Given the description of an element on the screen output the (x, y) to click on. 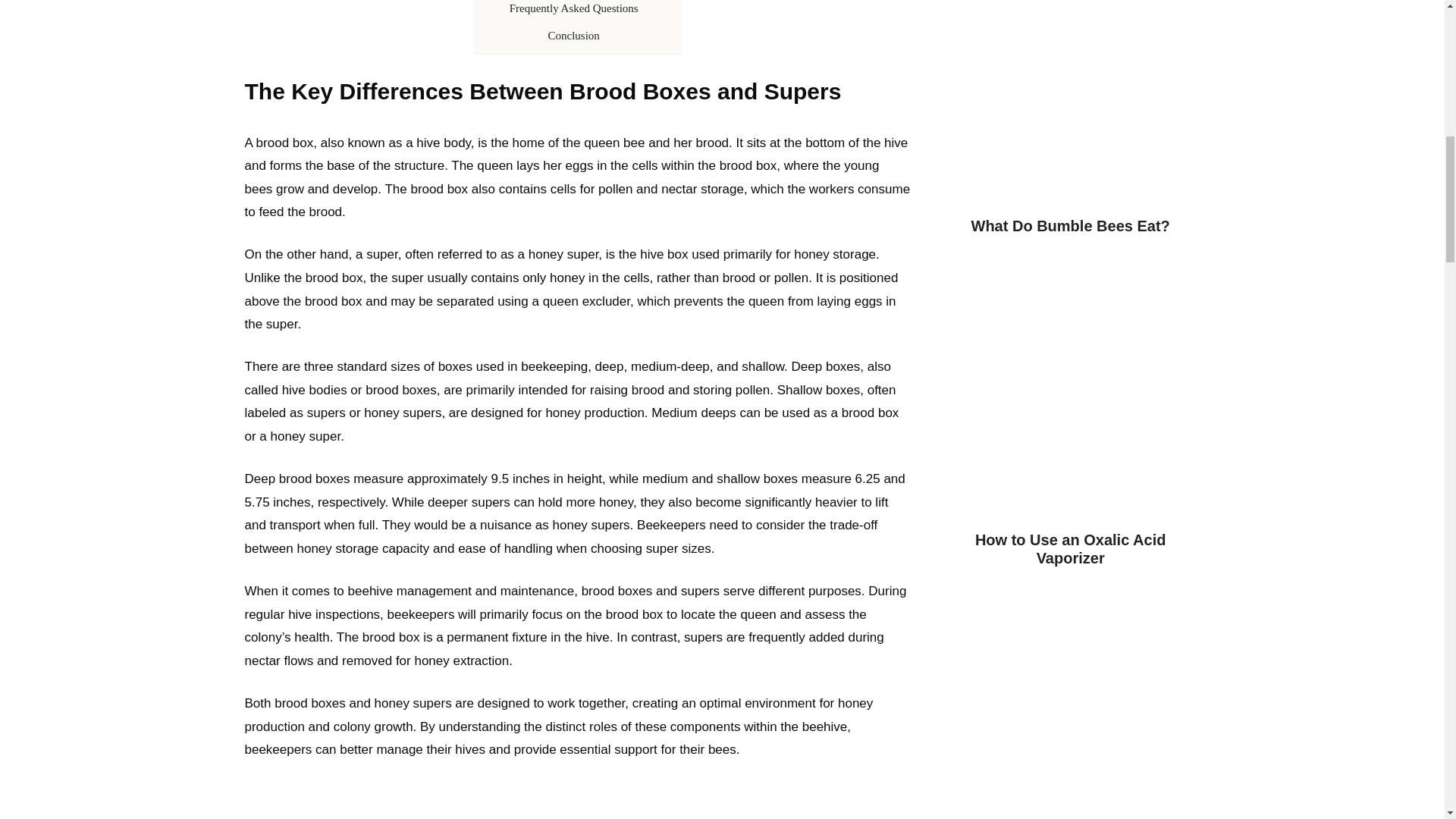
What Do Bumble Bees Eat? (1070, 225)
Conclusion (572, 35)
Frequently Asked Questions (574, 8)
Frequently Asked Questions (574, 8)
Conclusion (572, 35)
